Given the description of an element on the screen output the (x, y) to click on. 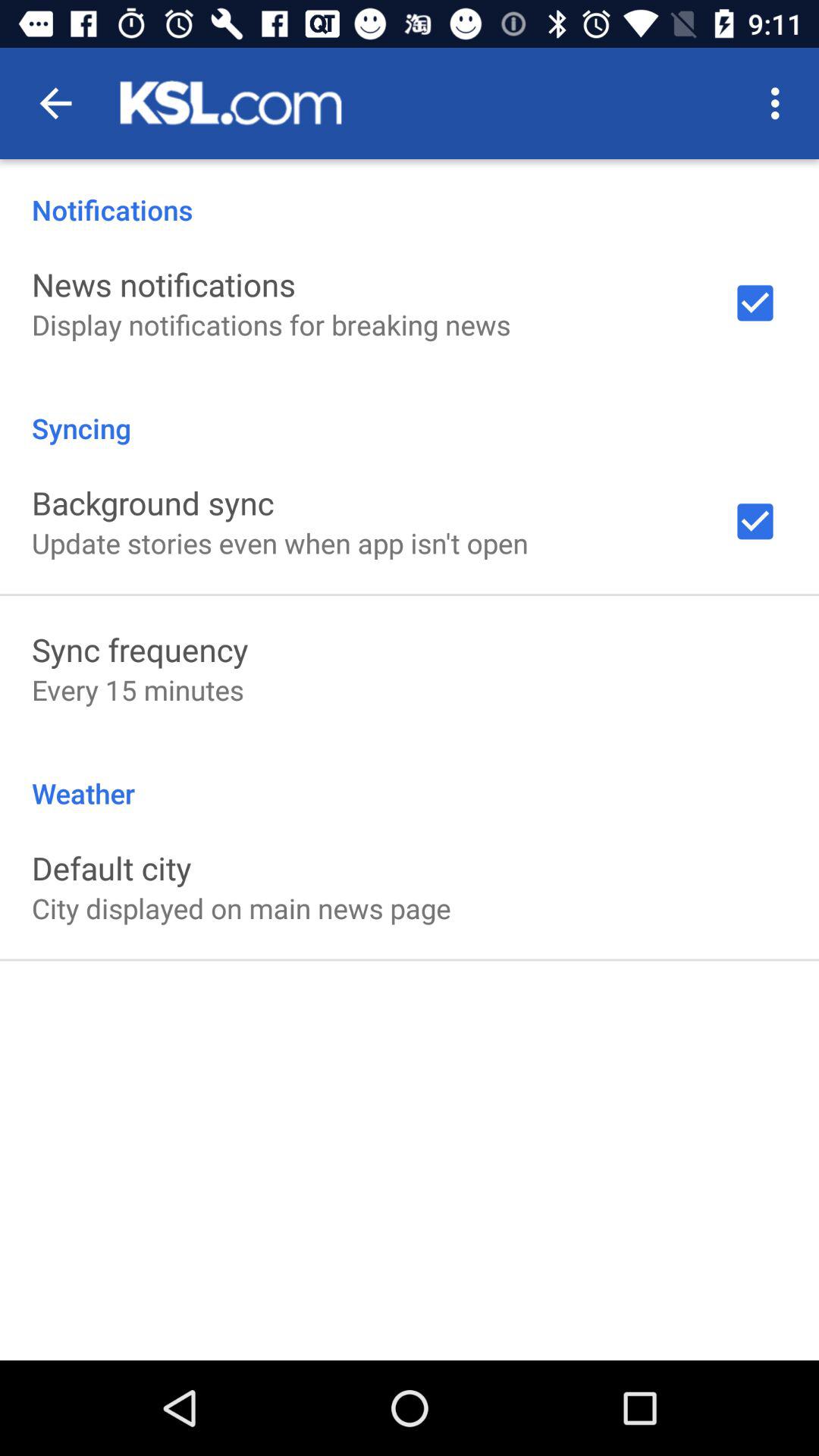
turn off the icon above the sync frequency item (279, 542)
